Given the description of an element on the screen output the (x, y) to click on. 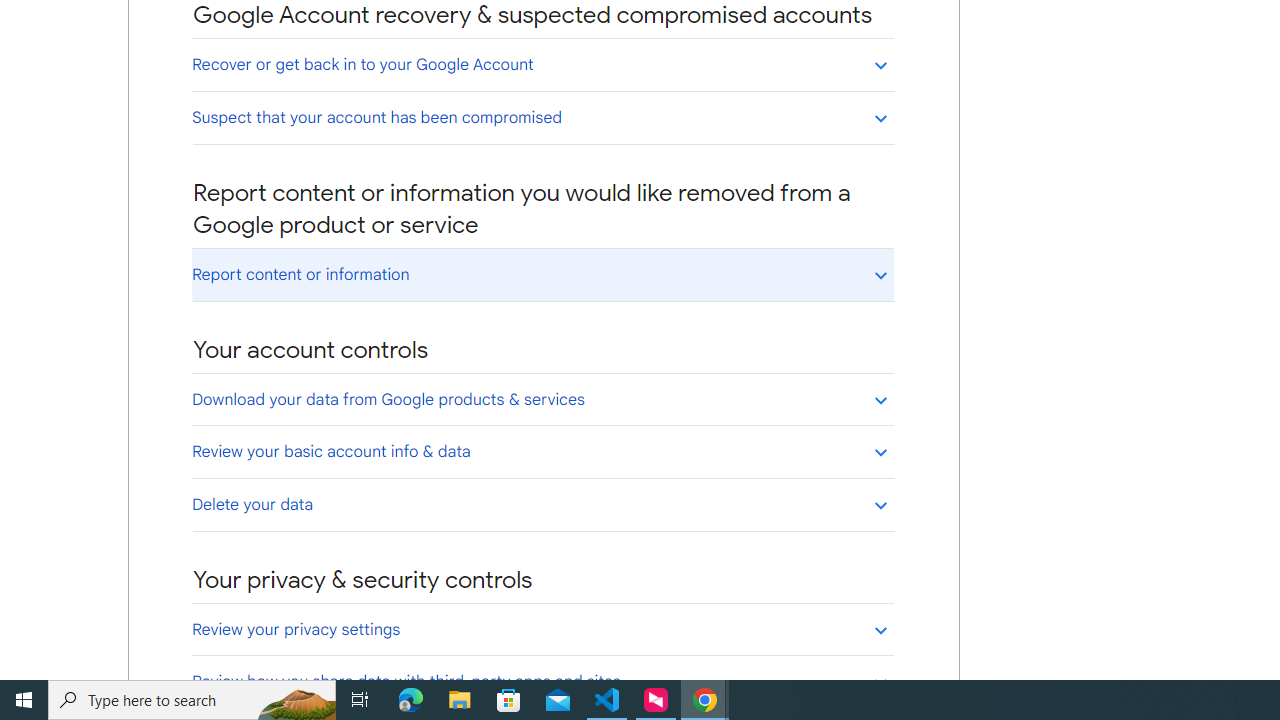
Suspect that your account has been compromised (542, 117)
Review your basic account info & data (542, 451)
Delete your data (542, 504)
Report content or information (542, 273)
Review how you share data with third-party apps and sites (542, 681)
Recover or get back in to your Google Account (542, 64)
Review your privacy settings (542, 629)
Download your data from Google products & services (542, 399)
